Given the description of an element on the screen output the (x, y) to click on. 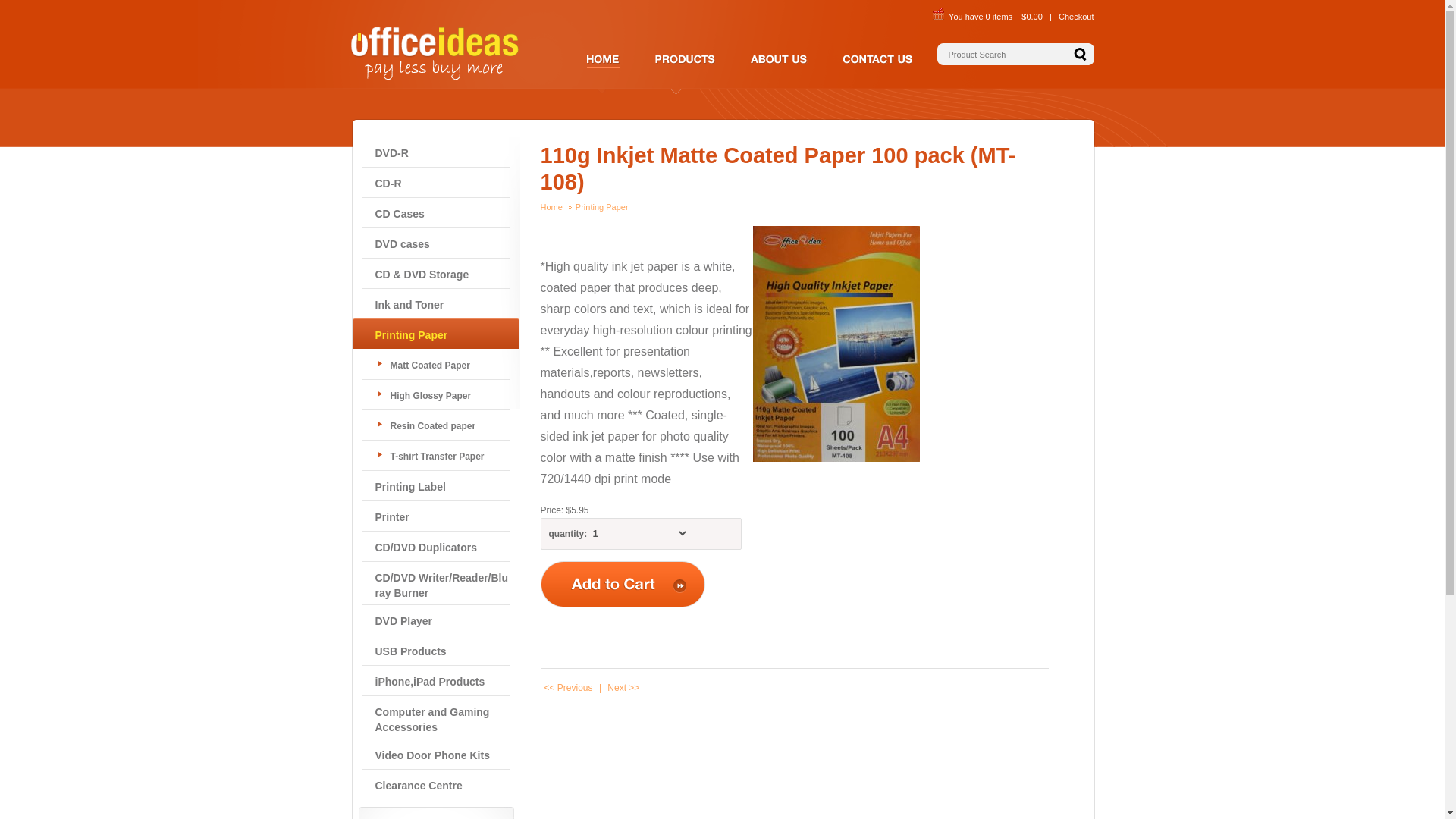
Contact Us Element type: hover (825, 53)
Printer Element type: text (434, 515)
Product Search Element type: hover (1006, 54)
Resin Coated paper Element type: text (434, 424)
Products Element type: hover (683, 60)
Next >> Element type: text (623, 687)
Home Element type: hover (611, 60)
T-shirt Transfer Paper Element type: text (434, 454)
Video Door Phone Kits Element type: text (434, 753)
iPhone,iPad Products Element type: text (434, 680)
Clearance Centre Element type: text (434, 783)
Home Element type: hover (585, 53)
DVD Player Element type: text (434, 619)
CD & DVD Storage Element type: text (434, 272)
CD/DVD Duplicators Element type: text (434, 545)
View cart Element type: hover (938, 13)
CD/DVD Writer/Reader/Blu ray Burner Element type: text (434, 582)
CD Cases Element type: text (434, 212)
Checkout Element type: text (1075, 16)
High Glossy Paper Element type: text (434, 394)
Printing Label Element type: text (434, 485)
Products Element type: hover (638, 53)
Printing Paper Element type: text (434, 333)
DVD-R Element type: text (434, 151)
Printing Paper Element type: text (601, 206)
Home Element type: text (550, 206)
CD-R Element type: text (434, 181)
USB Products Element type: text (434, 649)
About Us Element type: hover (776, 60)
Ink and Toner Element type: text (434, 303)
DVD cases Element type: text (434, 242)
Office Ideas logo Element type: hover (434, 53)
Home Element type: hover (601, 90)
About Us Element type: hover (729, 53)
Contact Us Element type: hover (868, 60)
Computer and Gaming Accessories Element type: text (434, 716)
Matt Coated Paper Element type: text (434, 363)
<< Previous Element type: text (567, 687)
